Given the description of an element on the screen output the (x, y) to click on. 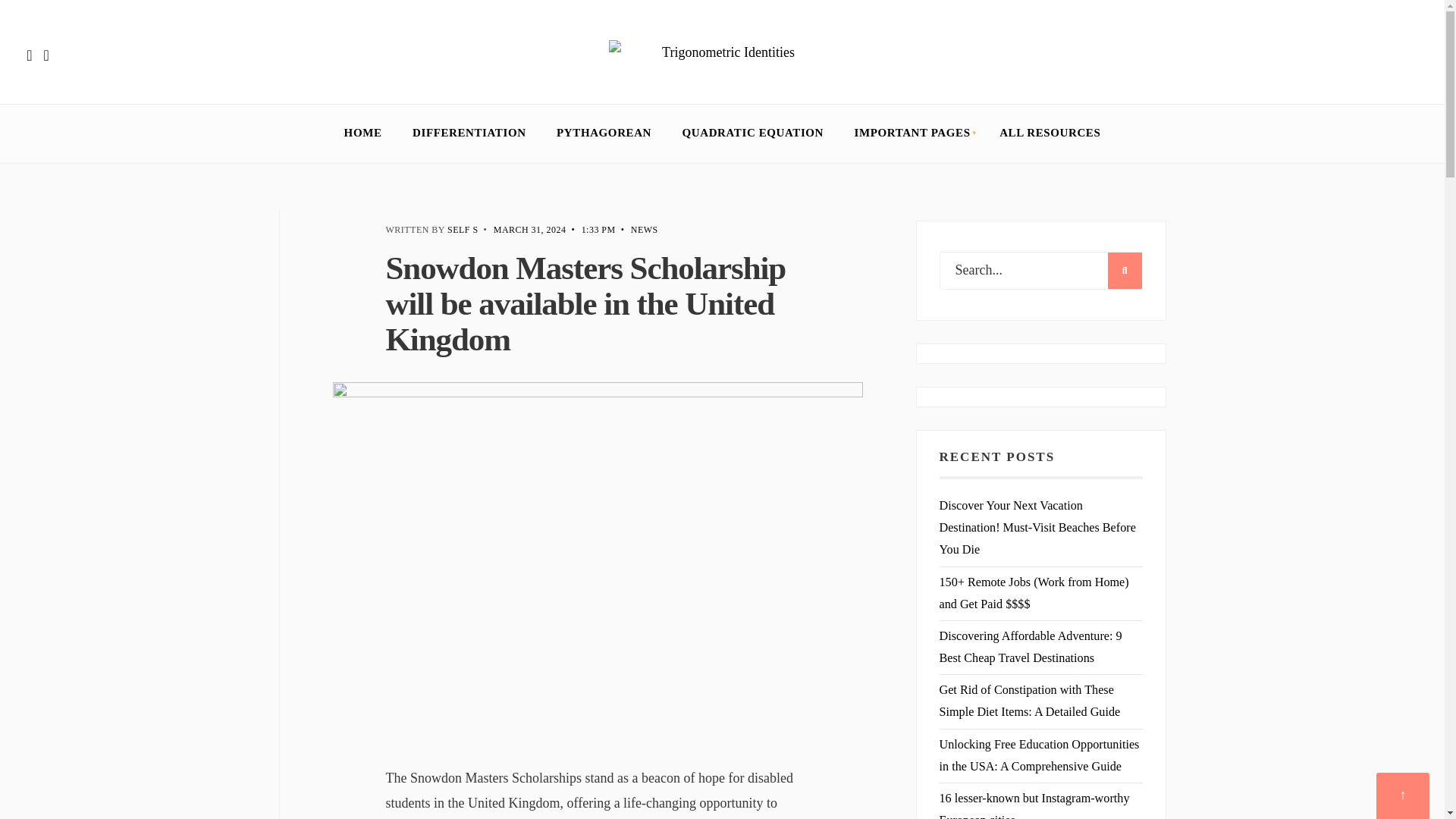
HOME (363, 133)
IMPORTANT PAGES (911, 133)
Search... (1040, 270)
QUADRATIC EQUATION (753, 133)
PYTHAGOREAN (604, 133)
NEWS (644, 229)
ALL RESOURCES (1049, 133)
DIFFERENTIATION (469, 133)
SELF S (462, 229)
Posts by self s (462, 229)
Scroll to top (1402, 796)
